Given the description of an element on the screen output the (x, y) to click on. 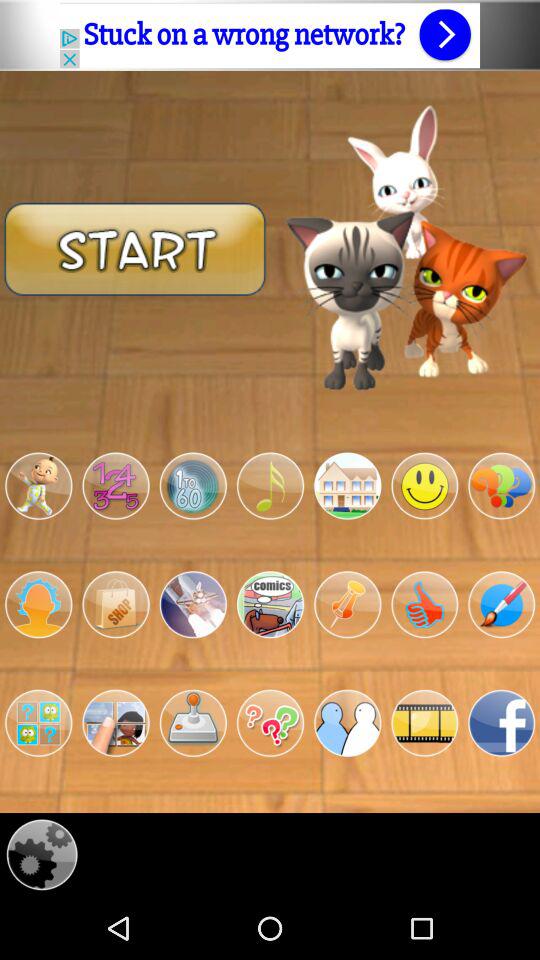
view advertisement (270, 35)
